Given the description of an element on the screen output the (x, y) to click on. 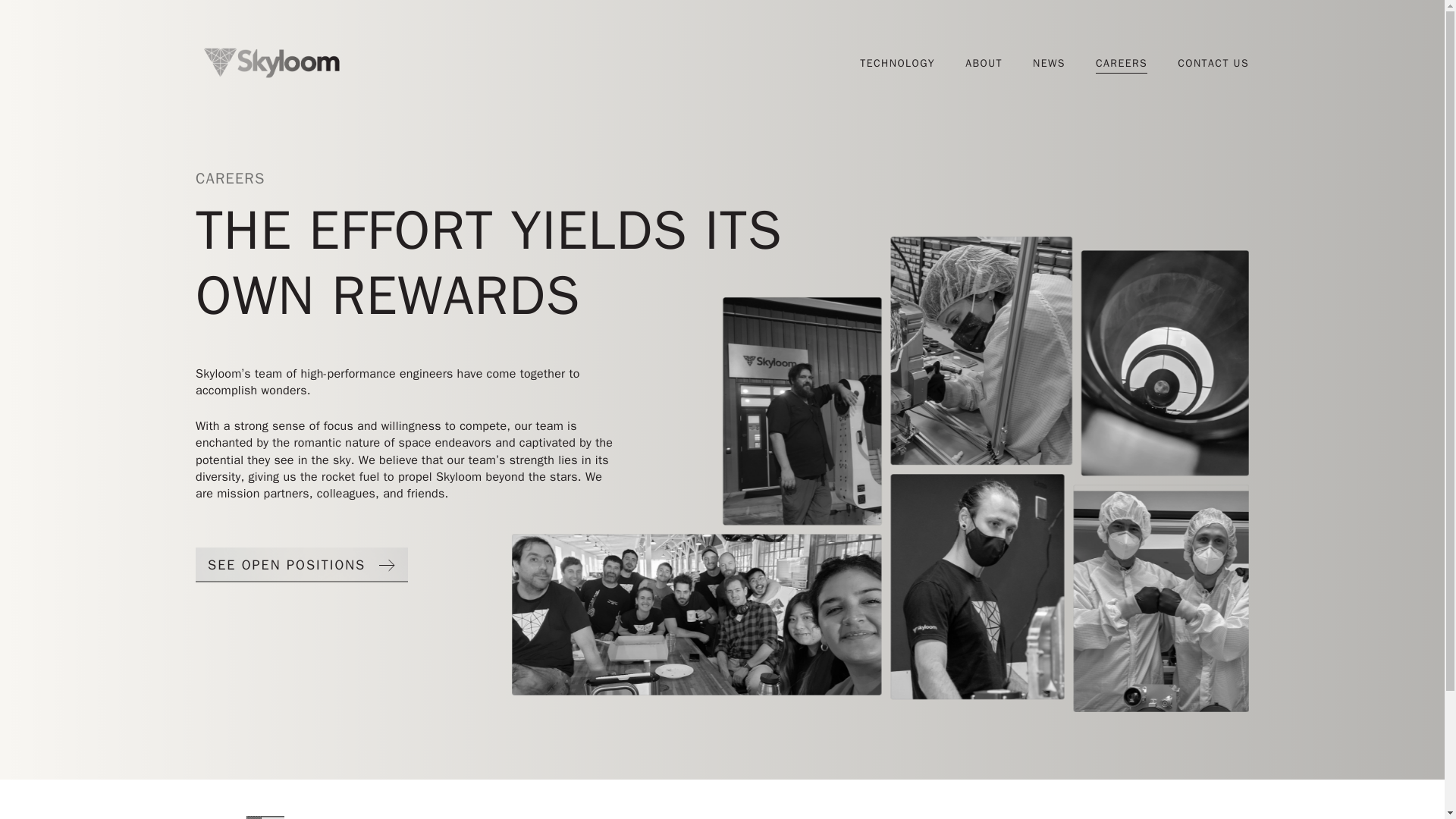
NEWS (1048, 63)
CONTACT US (1213, 63)
CAREERS (1121, 63)
TECHNOLOGY (897, 63)
ABOUT (984, 63)
SEE OPEN POSITIONS (301, 564)
